Given the description of an element on the screen output the (x, y) to click on. 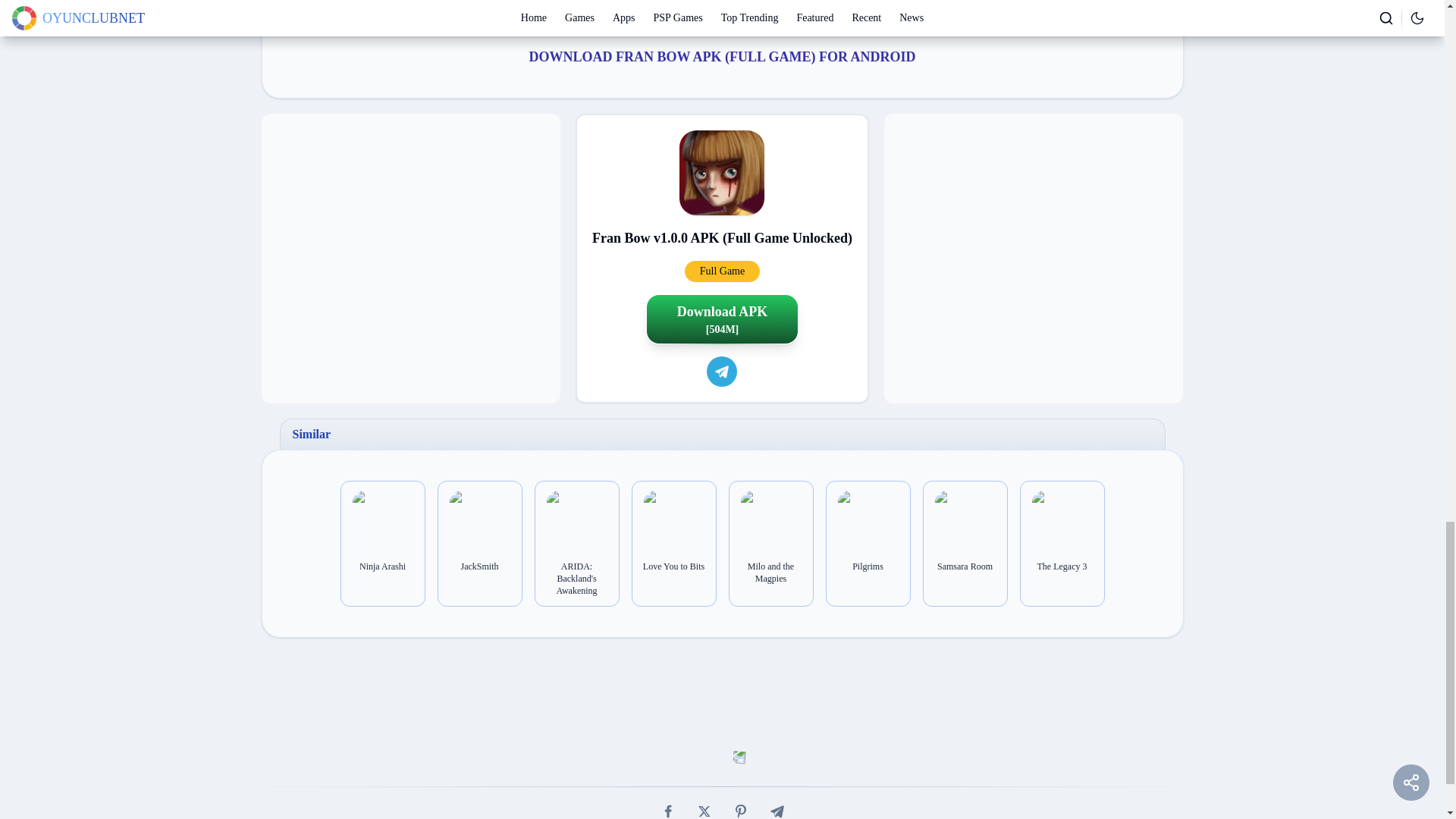
Pilgrims (868, 566)
Samsara Room (965, 566)
Ninja Arashi (382, 566)
Love You to Bits (674, 566)
The Legacy 3 (1061, 566)
JackSmith (479, 566)
ARIDA: Backland's Awakening (577, 578)
oyunclubnet.com on Telegram (721, 371)
Milo and the Magpies (770, 572)
